Given the description of an element on the screen output the (x, y) to click on. 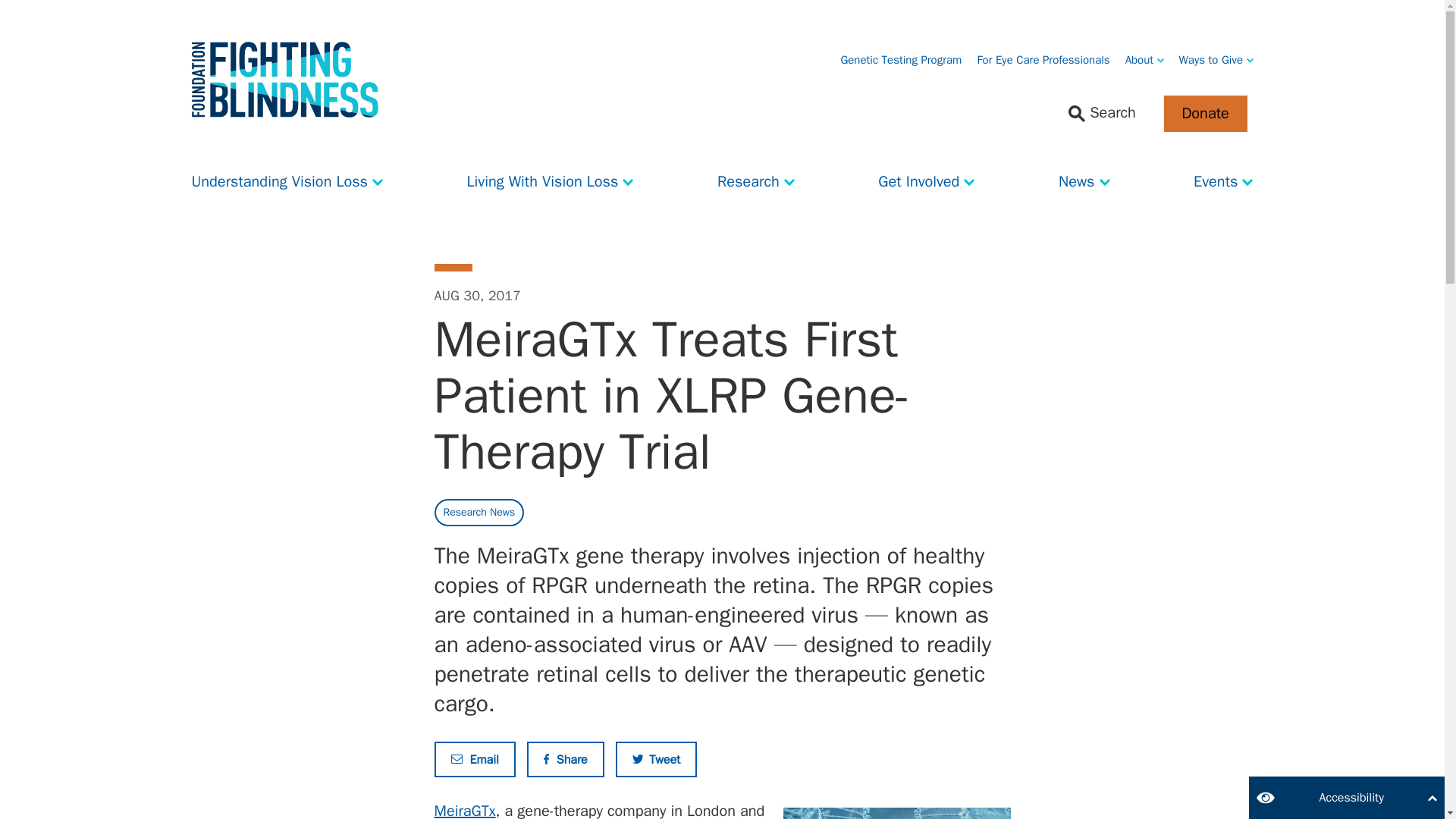
Research (755, 177)
Foundation Fighting Blindness homepage (283, 80)
Donate (1204, 113)
Search (1101, 113)
Living With Vision Loss (550, 177)
Understanding Vision Loss (286, 177)
